Given the description of an element on the screen output the (x, y) to click on. 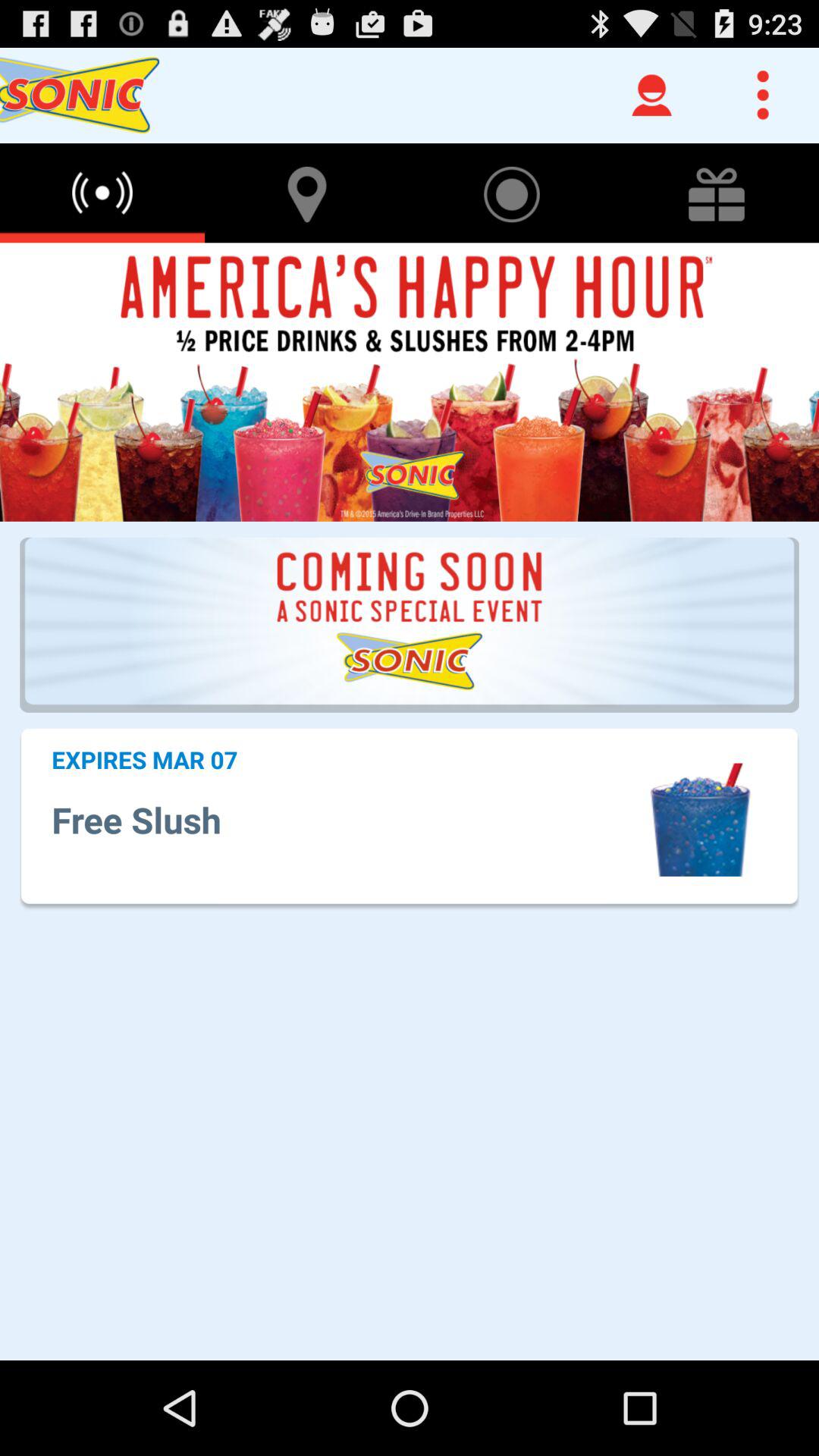
click item on the left (144, 759)
